Given the description of an element on the screen output the (x, y) to click on. 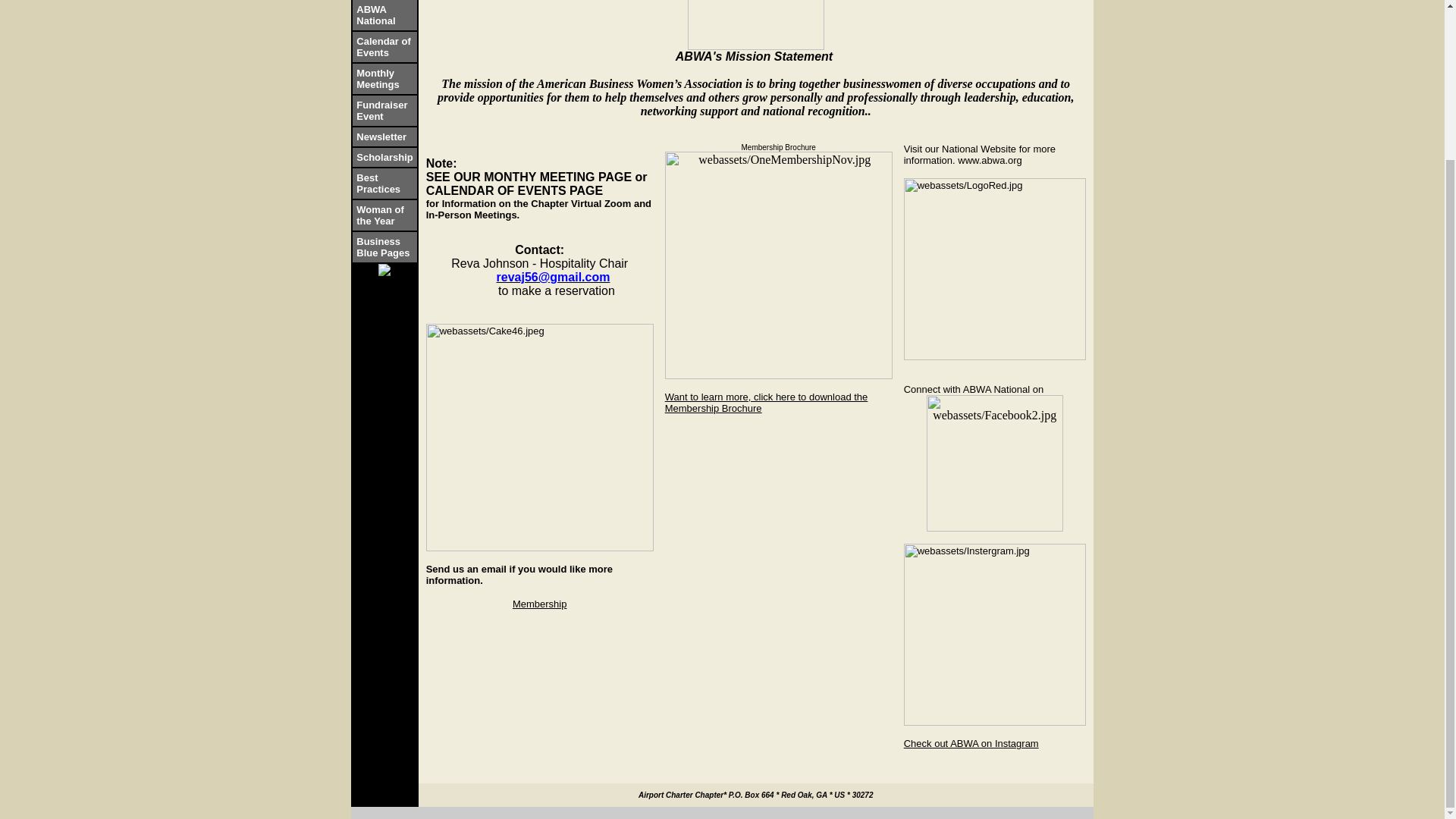
Business Blue Pages (382, 246)
Best Practices (378, 182)
Newsletter (381, 135)
Monthly Meetings (377, 78)
Woman of the Year (380, 214)
Membership (539, 603)
Check out ABWA on Instagram (971, 743)
Fundraiser Event (381, 109)
Calendar of Events (383, 46)
